Given the description of an element on the screen output the (x, y) to click on. 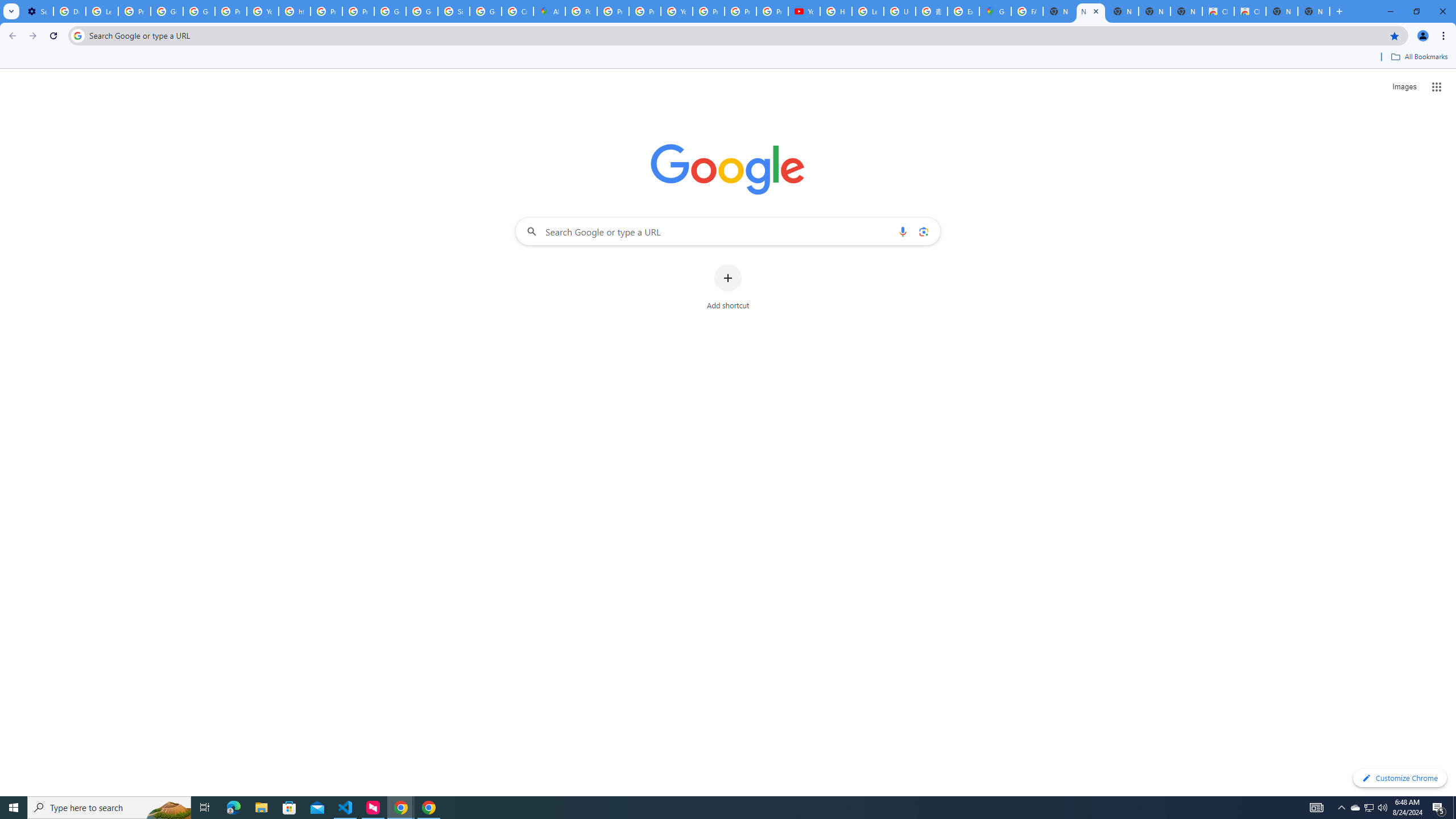
Privacy Help Center - Policies Help (613, 11)
Privacy Checkup (740, 11)
Settings - On startup (37, 11)
Create your Google Account (517, 11)
YouTube (676, 11)
